Given the description of an element on the screen output the (x, y) to click on. 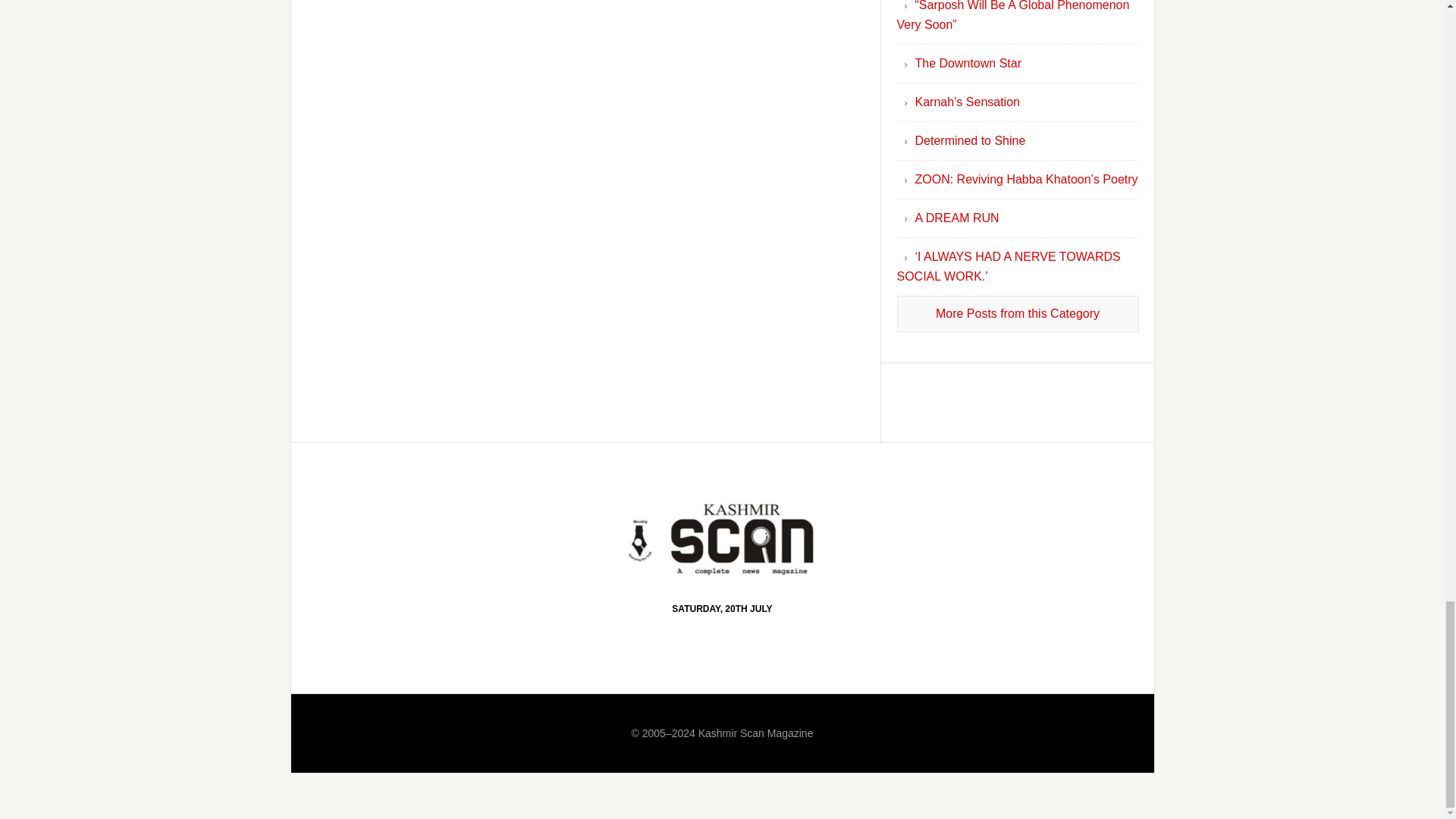
Interview (1017, 313)
